Given the description of an element on the screen output the (x, y) to click on. 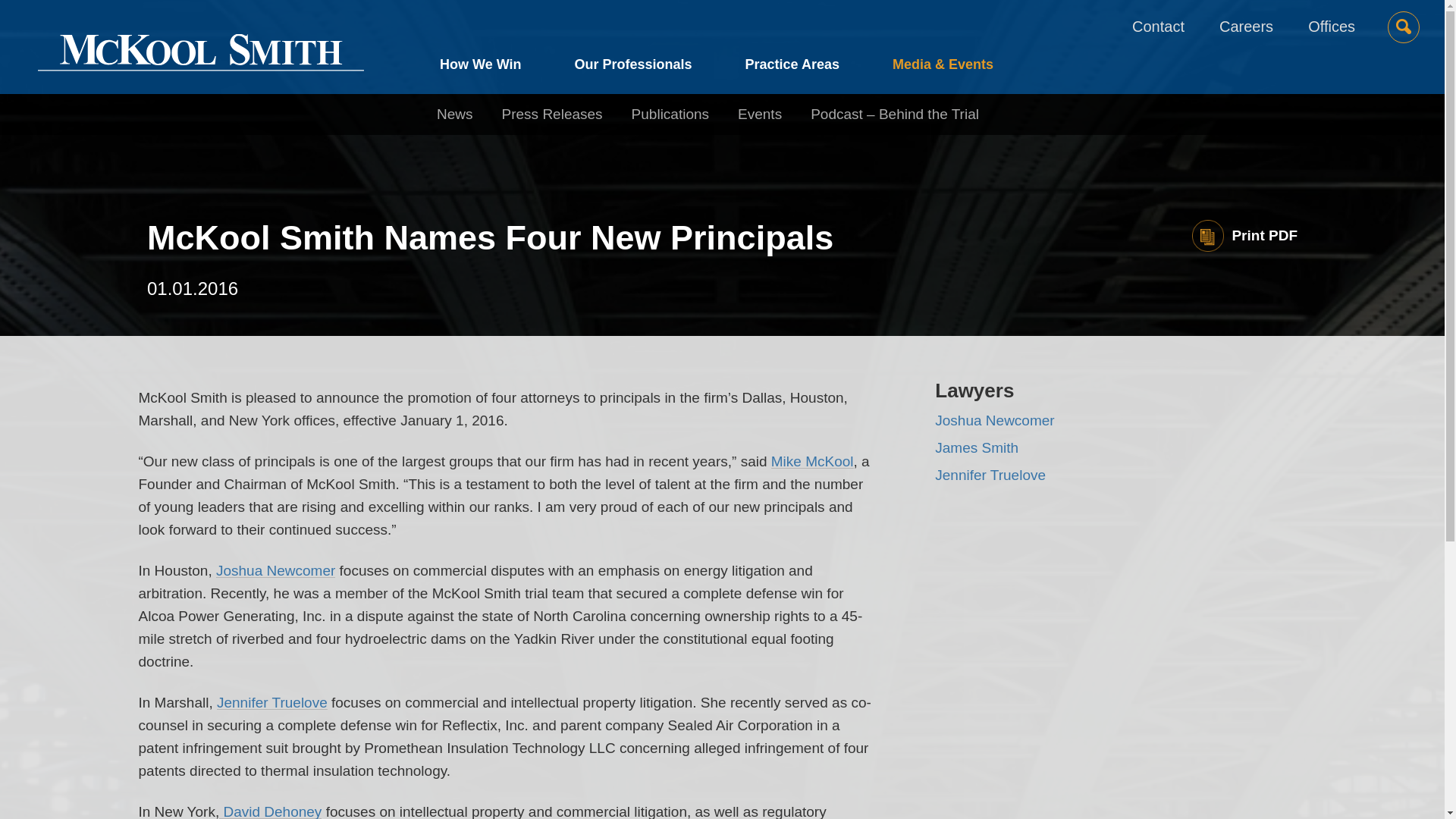
Main Content (667, 19)
Practice Areas (792, 68)
Menu (674, 19)
Main Menu (674, 19)
Our Professionals (632, 68)
How We Win (493, 68)
